Given the description of an element on the screen output the (x, y) to click on. 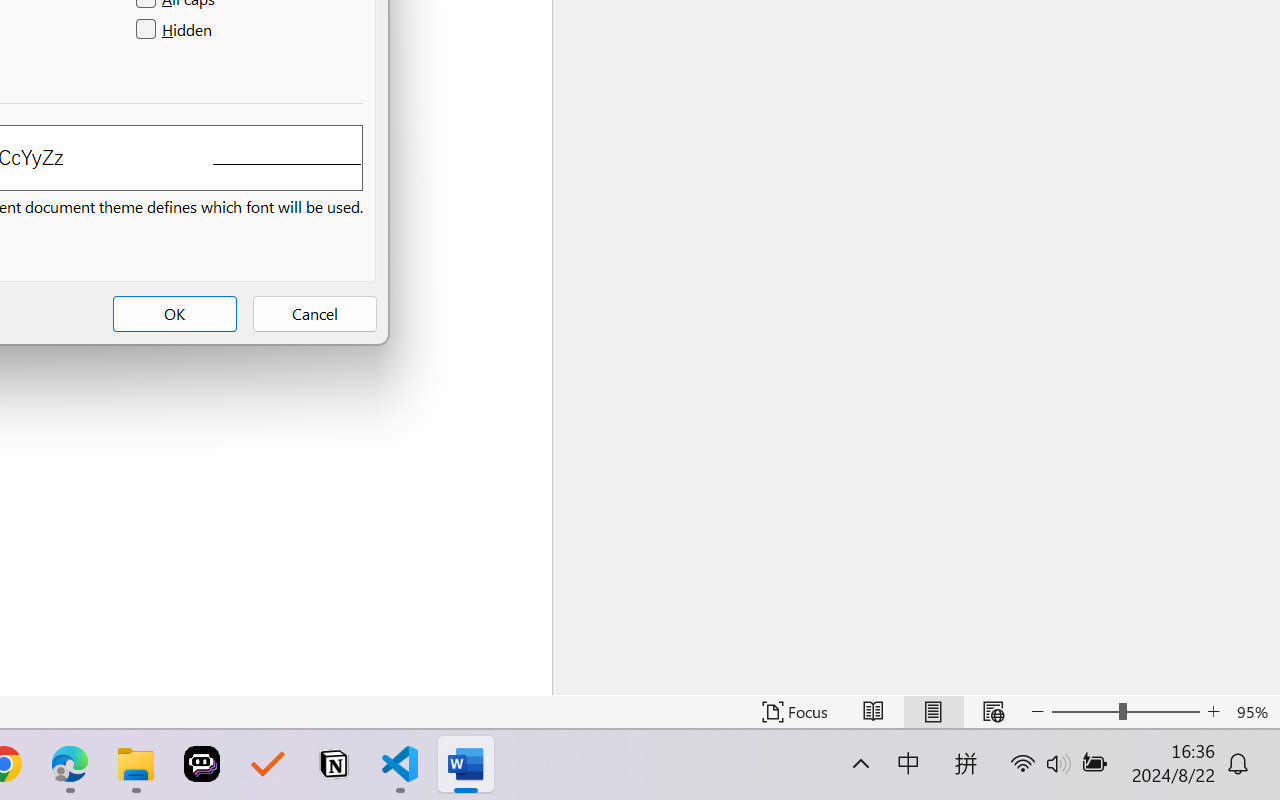
OK (175, 313)
Notion (333, 764)
Poe (201, 764)
